Given the description of an element on the screen output the (x, y) to click on. 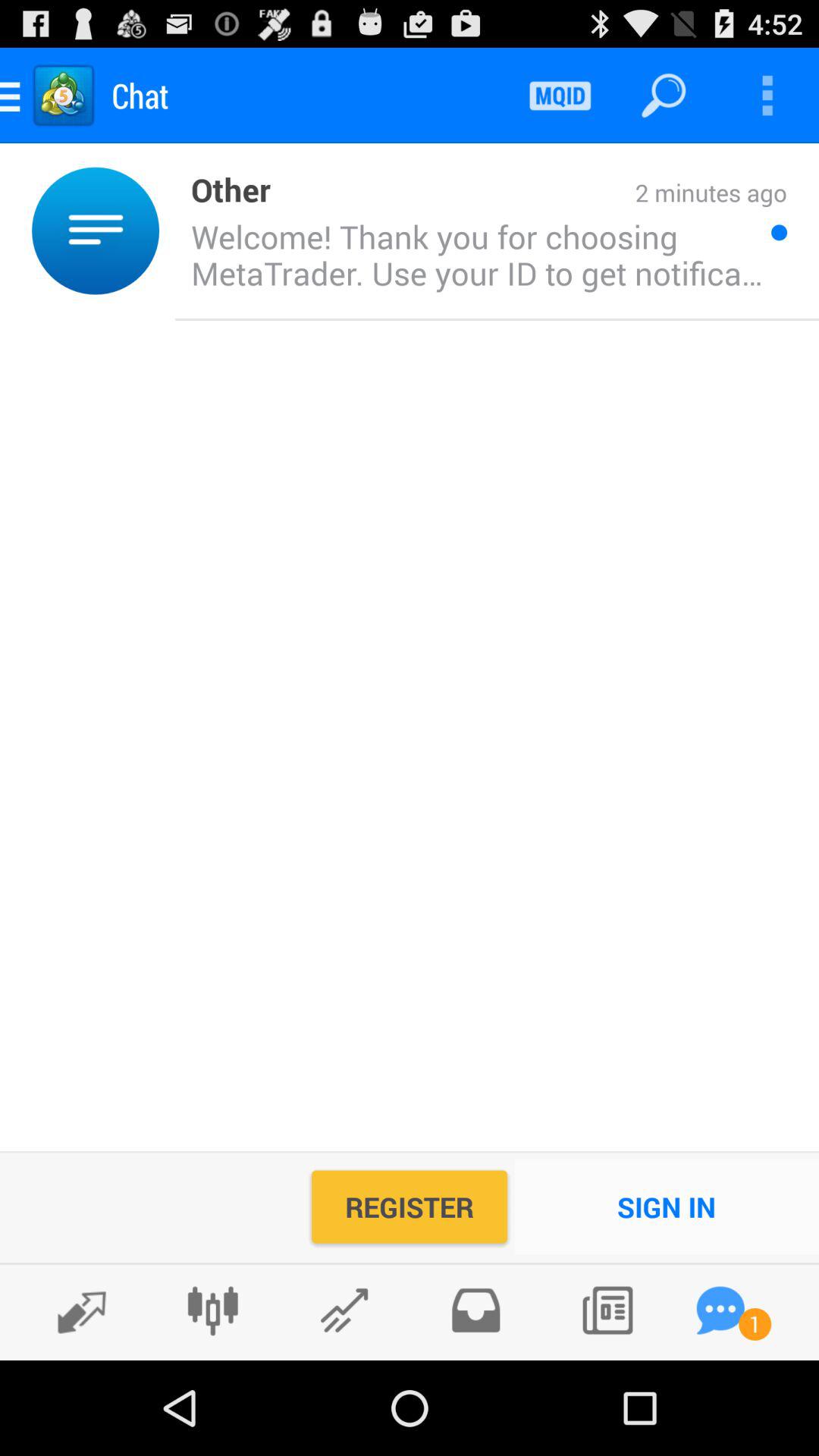
press icon below chat icon (222, 188)
